Given the description of an element on the screen output the (x, y) to click on. 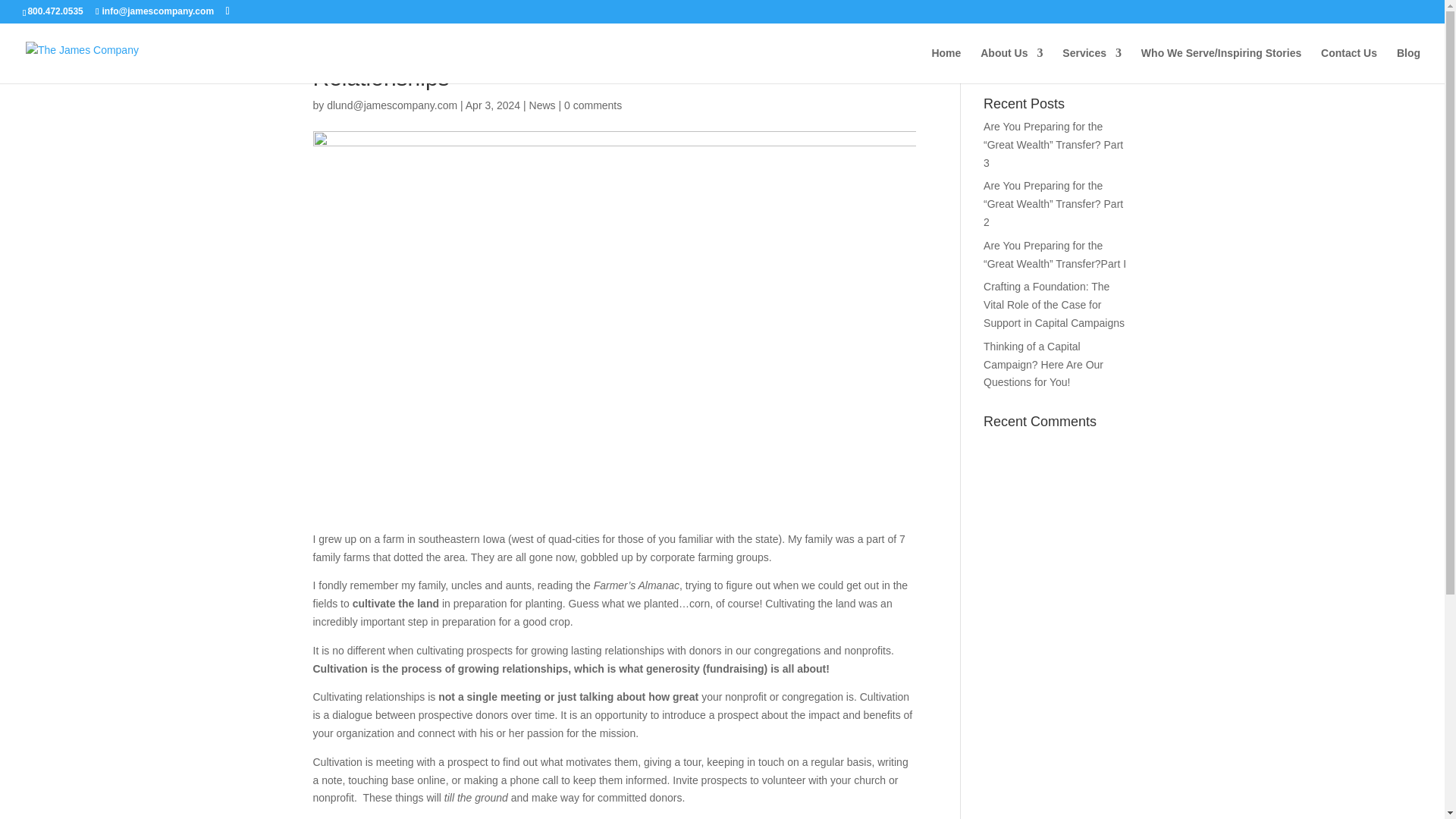
News (542, 105)
0 comments (592, 105)
Search (1106, 59)
Contact Us (1348, 65)
Home (945, 65)
Services (1091, 65)
About Us (1010, 65)
Search (1106, 59)
Blog (1408, 65)
